Given the description of an element on the screen output the (x, y) to click on. 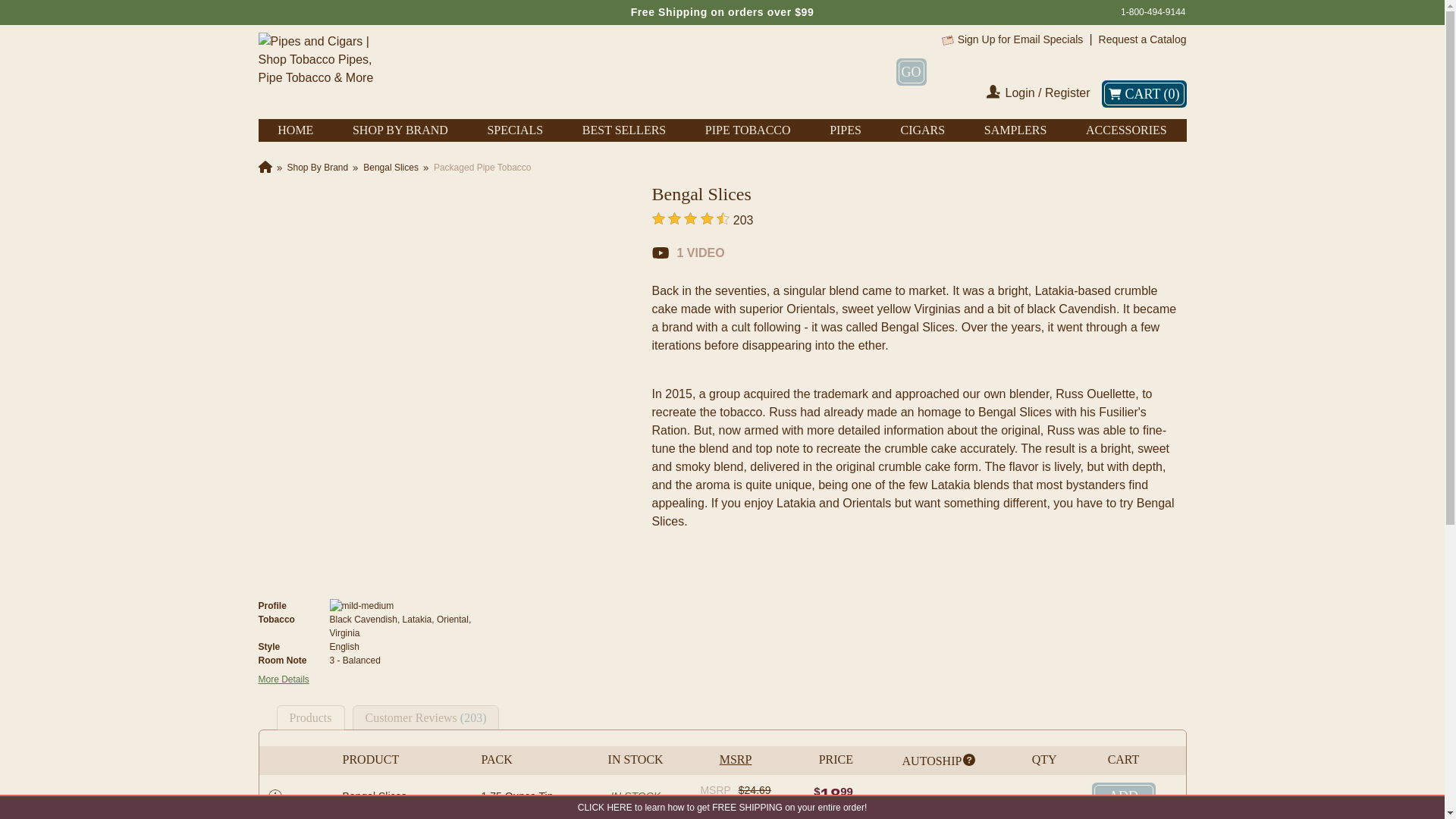
Quick View for Bengal Slices (274, 796)
SPECIALS (514, 129)
1-800-494-9144 (1153, 11)
GO (911, 71)
Sign Up for Email Specials (1020, 39)
Request a Catalog (1142, 39)
SHOP BY BRAND (400, 129)
HOME (295, 129)
BEST SELLERS (623, 129)
